Given the description of an element on the screen output the (x, y) to click on. 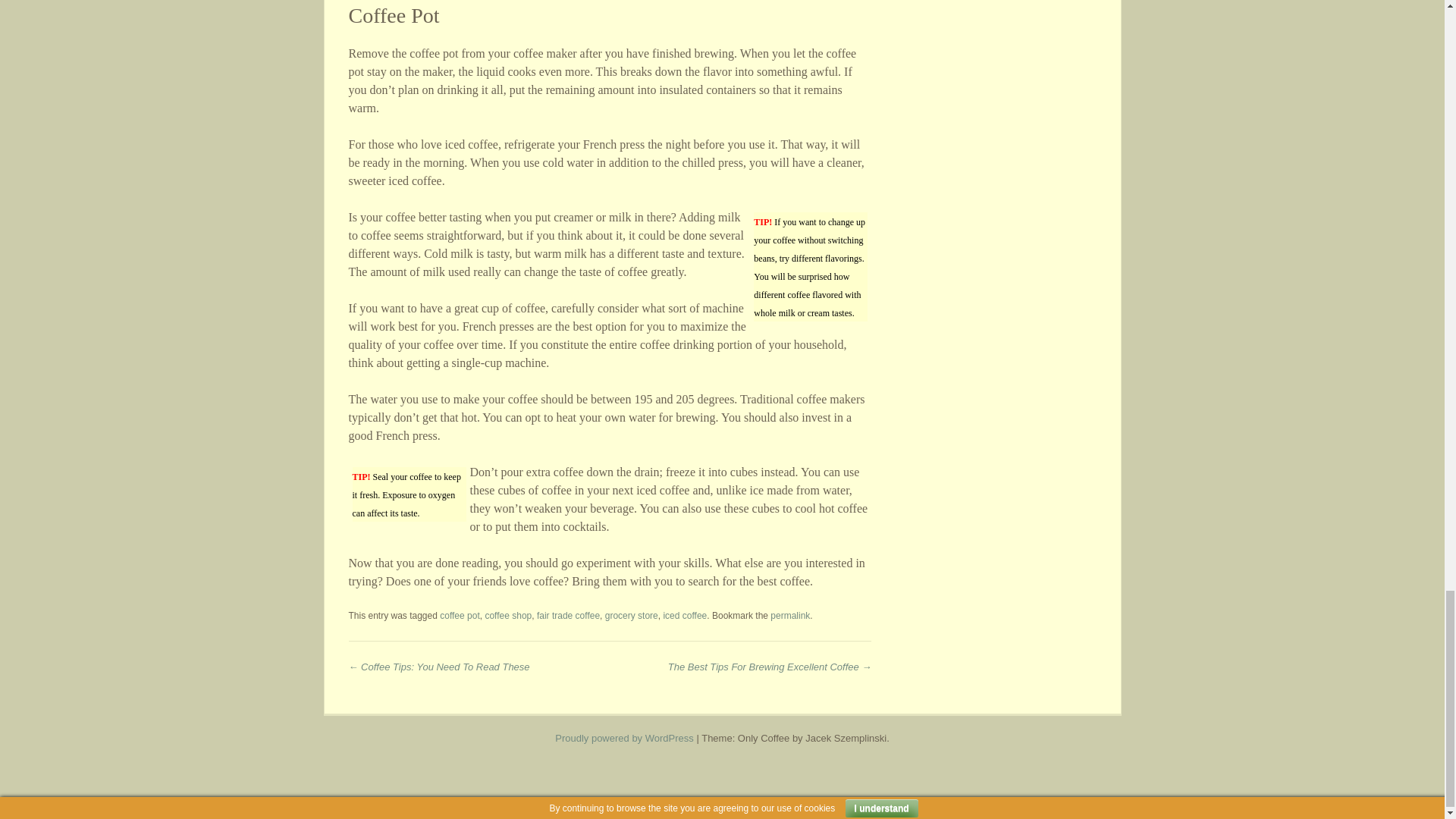
Permalink to Top Suggestions For Choosing The Best Coffee (789, 615)
Advertisement (721, 791)
A Semantic Personal Publishing Platform (624, 737)
